Given the description of an element on the screen output the (x, y) to click on. 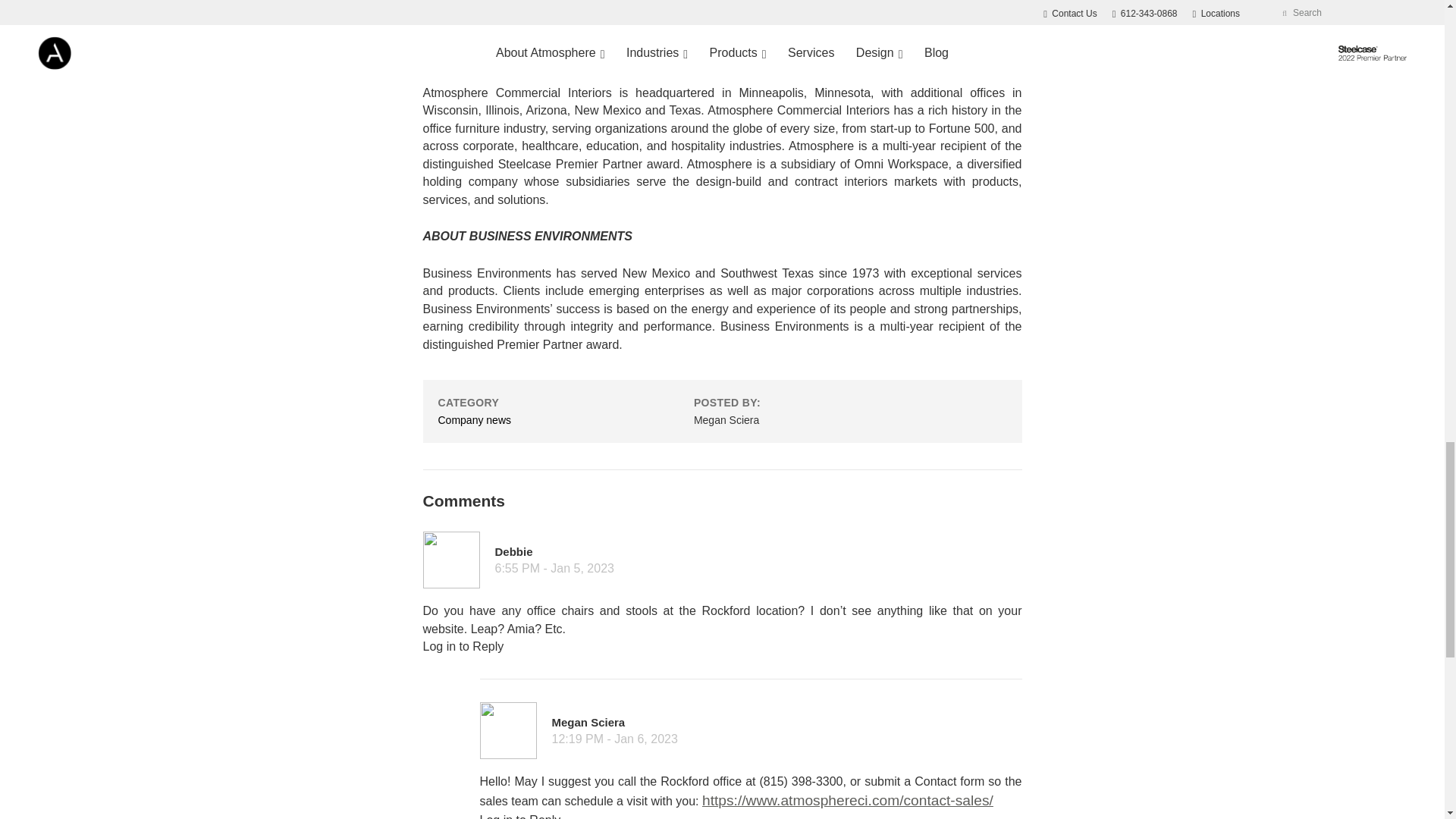
Log in to Reply (463, 645)
Company news (475, 419)
Log in to Reply (519, 816)
